Given the description of an element on the screen output the (x, y) to click on. 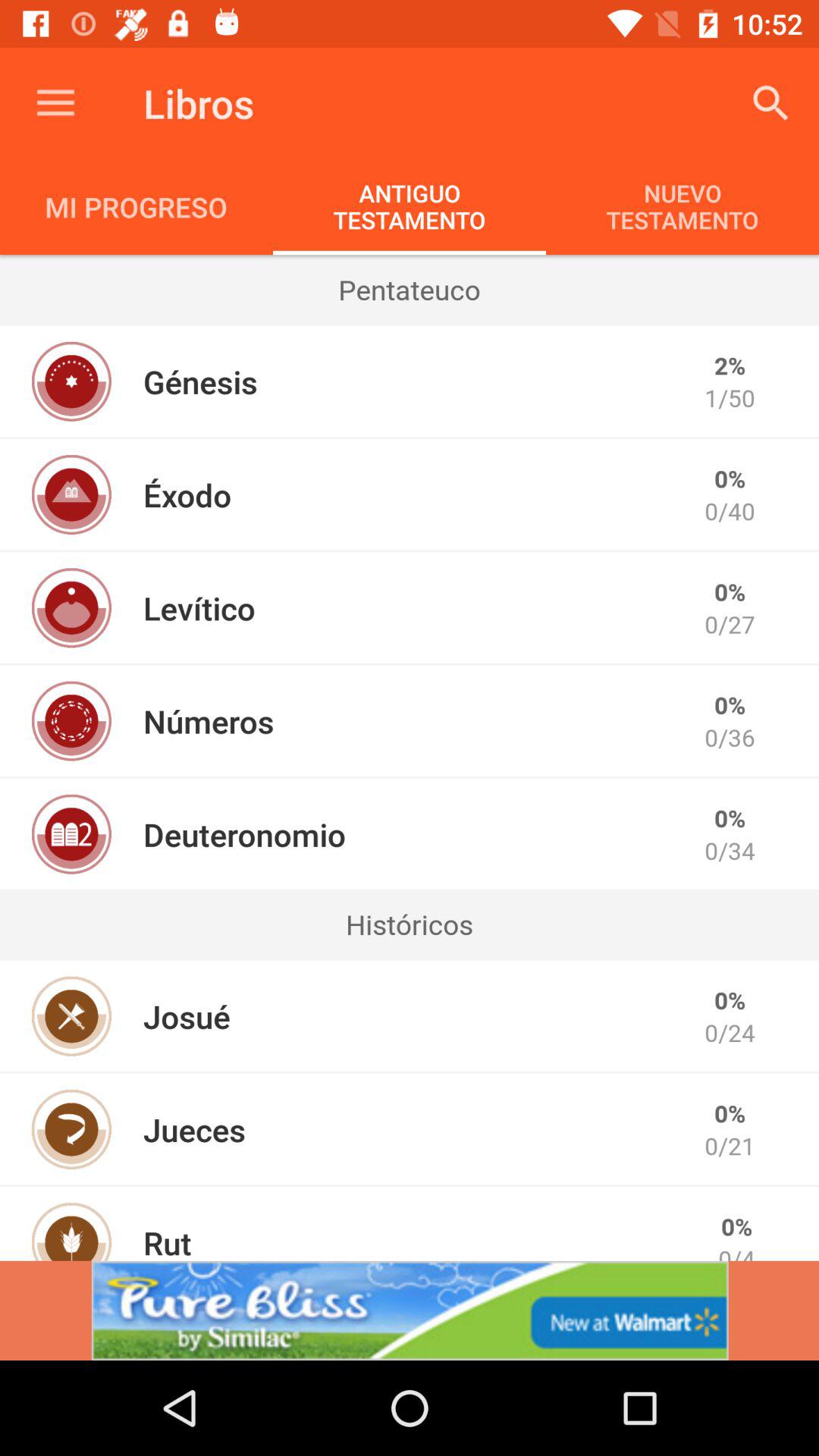
select the icon to the left of 0/36 (208, 720)
